Given the description of an element on the screen output the (x, y) to click on. 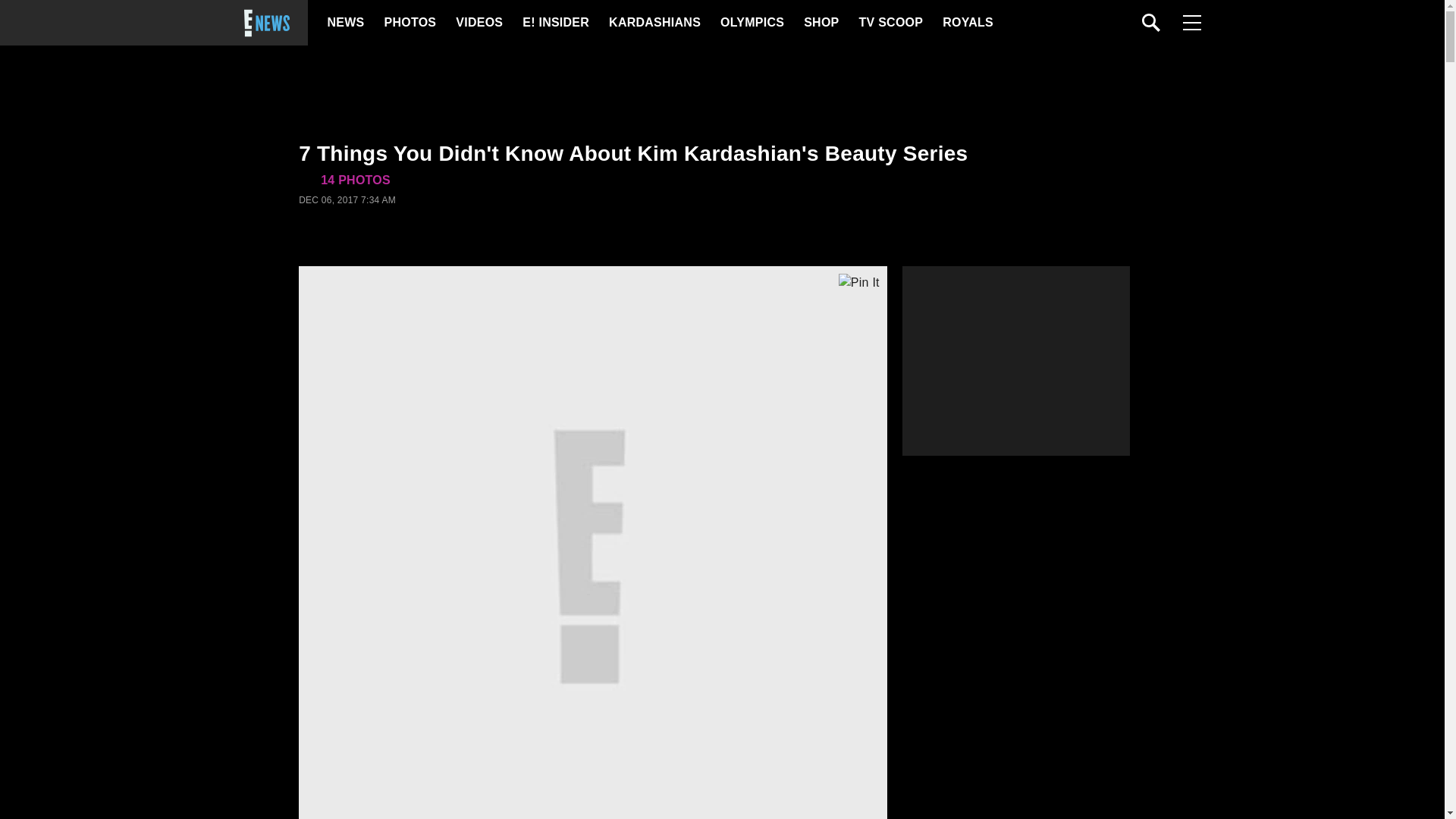
TV SCOOP (890, 22)
KARDASHIANS (653, 22)
PHOTOS (408, 22)
SHOP (820, 22)
NEWS (345, 22)
VIDEOS (478, 22)
OLYMPICS (751, 22)
ROYALS (966, 22)
E! INSIDER (555, 22)
